Given the description of an element on the screen output the (x, y) to click on. 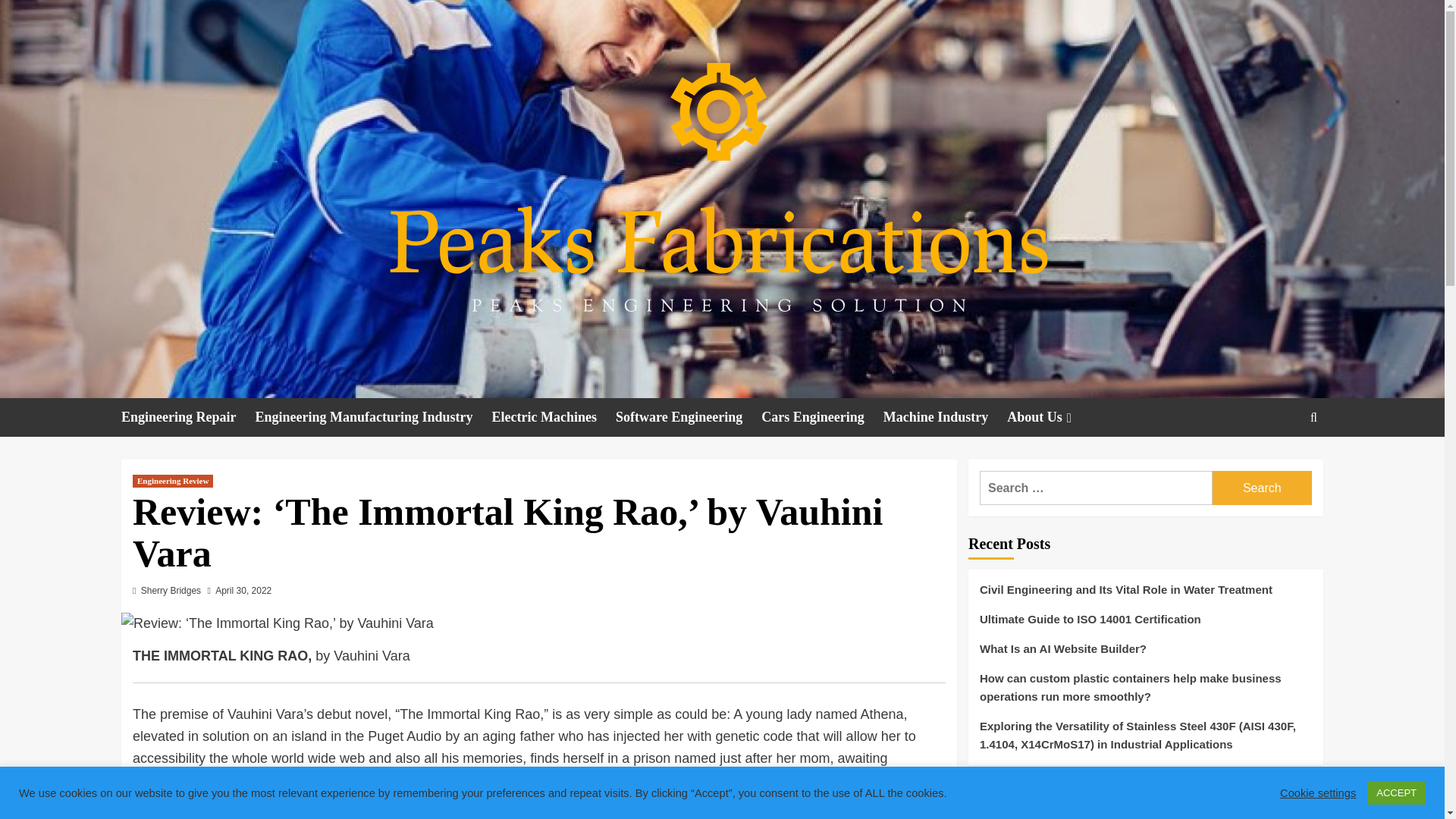
Electric Machines (553, 417)
Search (1261, 487)
Engineering Repair (188, 417)
April 30, 2022 (242, 590)
Software Engineering (688, 417)
Cars Engineering (822, 417)
About Us (1050, 417)
Search (1278, 464)
Sherry Bridges (170, 590)
Engineering Manufacturing Industry (373, 417)
